Given the description of an element on the screen output the (x, y) to click on. 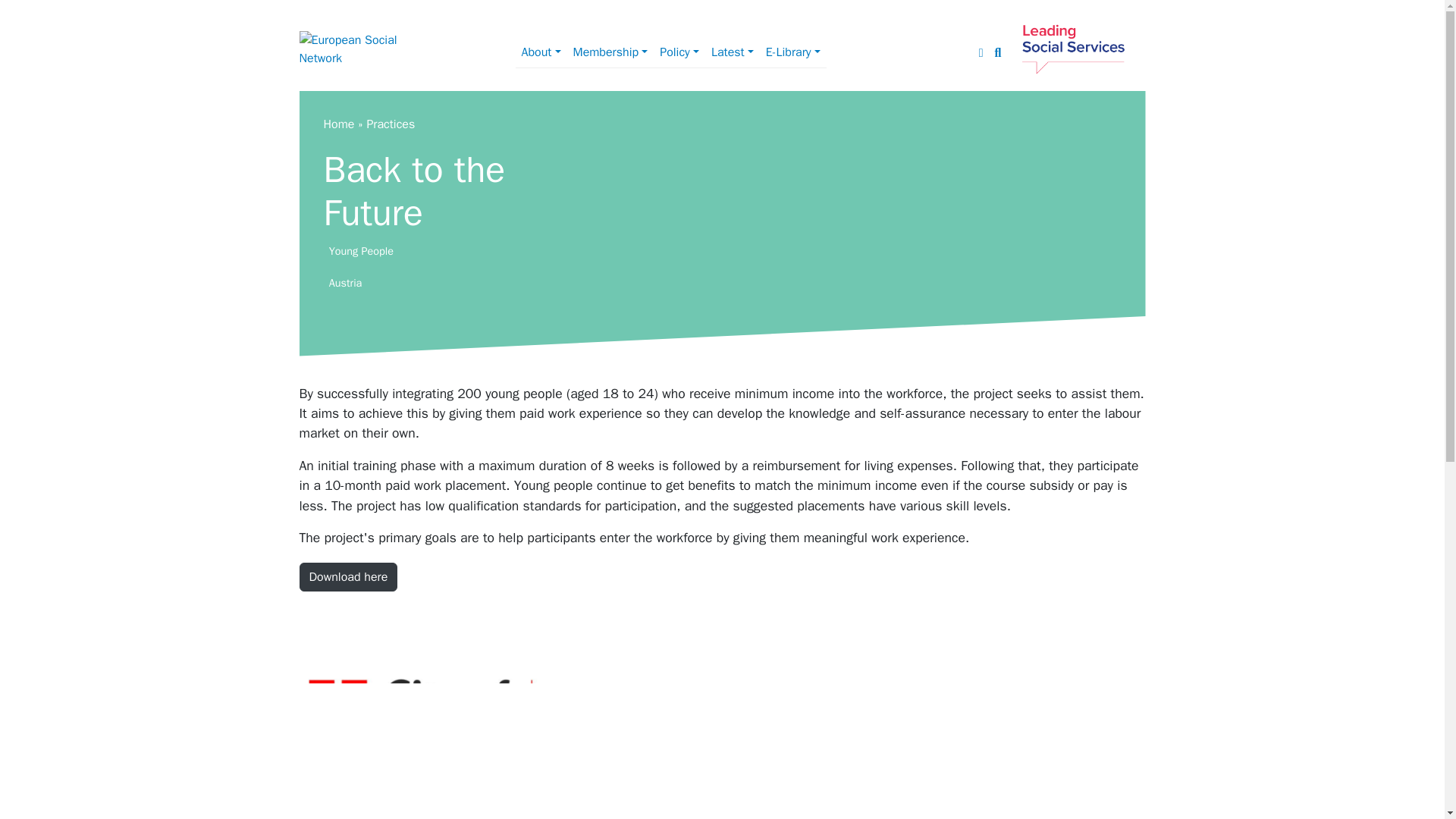
Practices (390, 124)
Download here (347, 576)
Home (338, 124)
Membership (610, 51)
Latest (732, 51)
About (541, 51)
E-Library (793, 51)
Policy (678, 51)
